Given the description of an element on the screen output the (x, y) to click on. 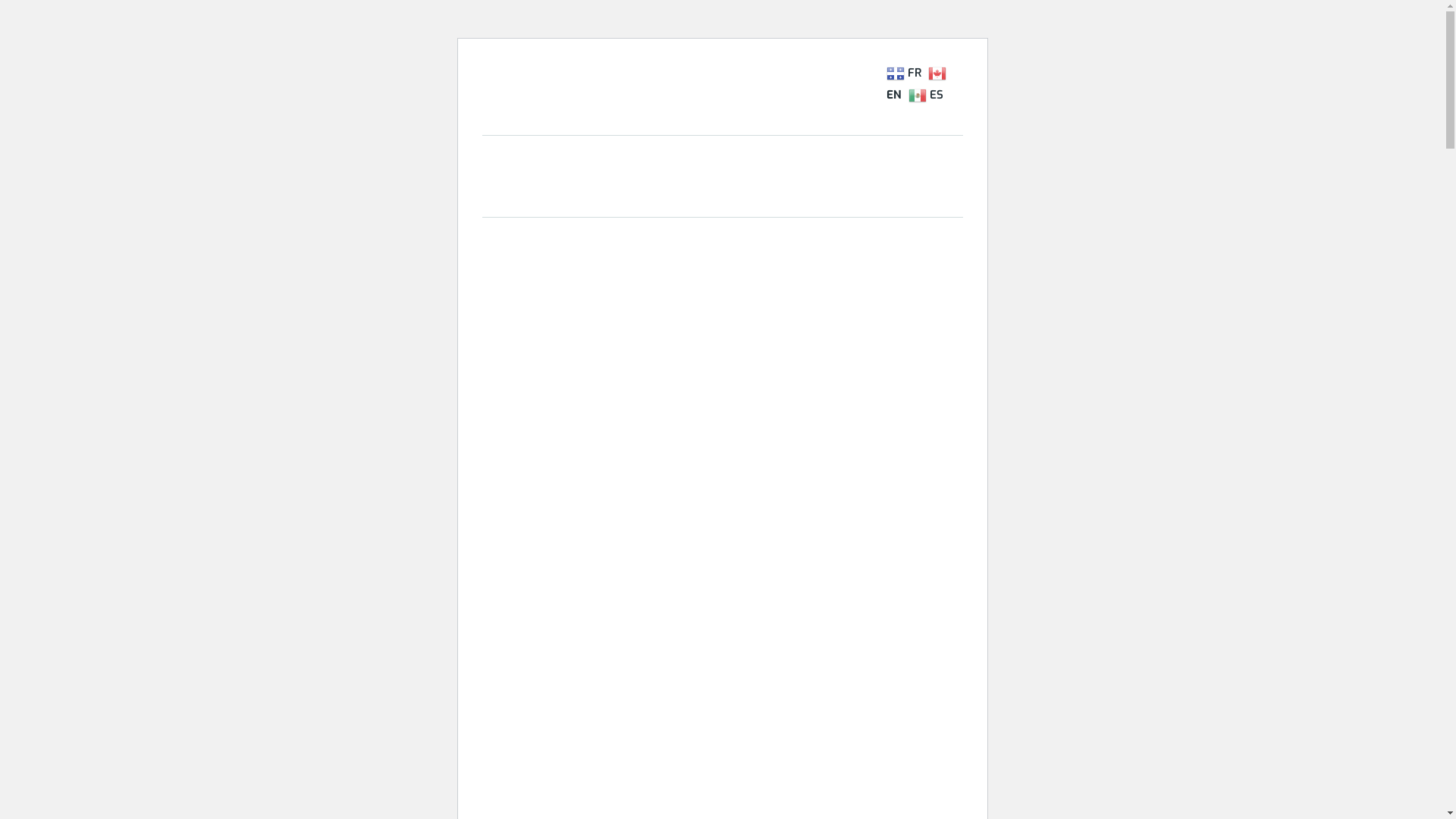
SRA Element type: text (930, 158)
History Element type: text (597, 158)
Emergency Shelter Element type: text (714, 158)
Home Element type: text (519, 158)
Skip to content Element type: text (480, 37)
EN Element type: text (916, 83)
FR Element type: text (905, 72)
Contact Us Element type: text (852, 192)
Street Work Element type: text (843, 158)
ES Element type: text (927, 94)
Resources & Links Element type: text (612, 192)
